Given the description of an element on the screen output the (x, y) to click on. 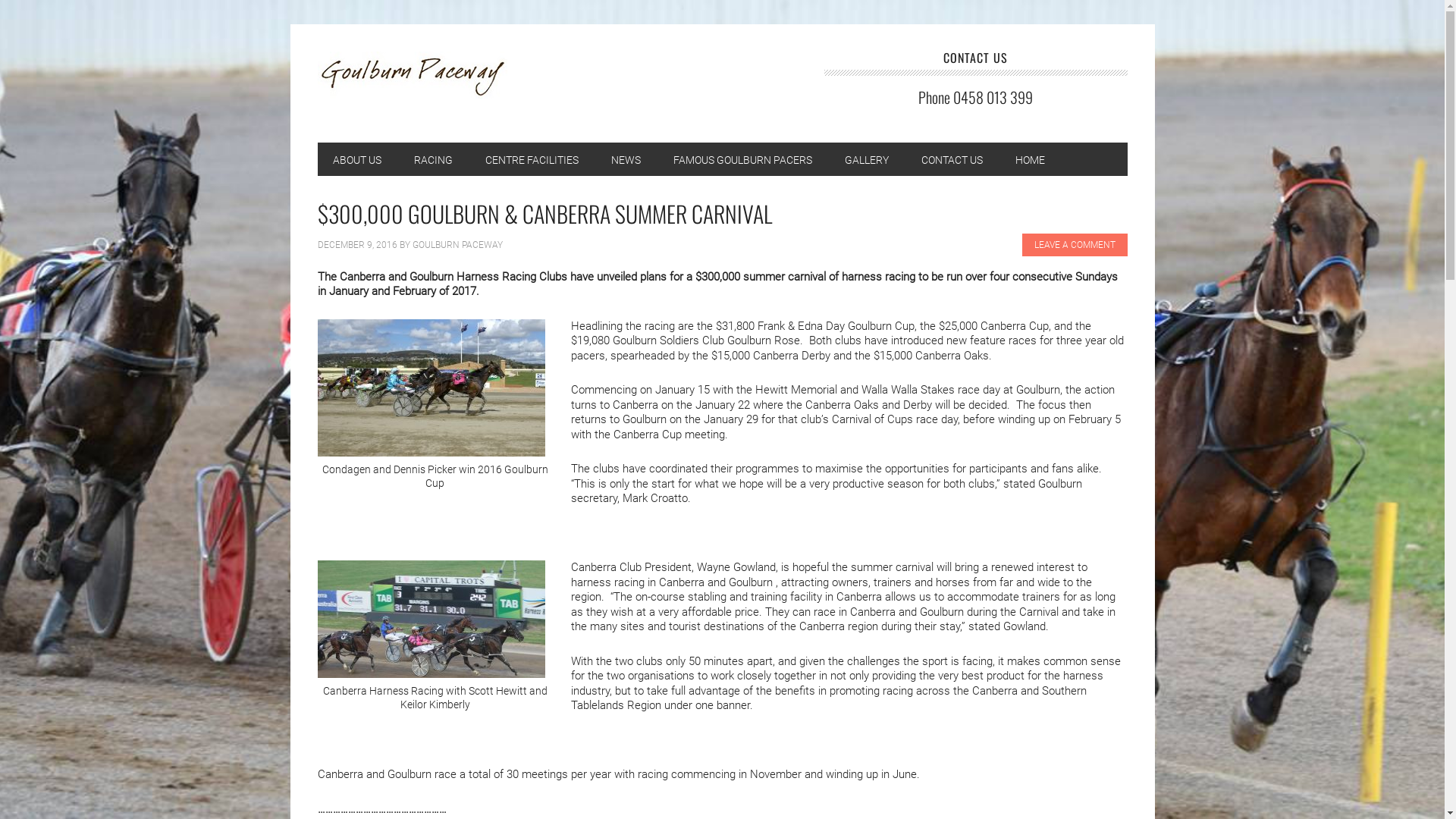
GOULBURN PACEWAY Element type: text (418, 81)
LEAVE A COMMENT Element type: text (1074, 244)
NEWS Element type: text (625, 158)
CONTACT US Element type: text (951, 158)
HOME Element type: text (1029, 158)
ABOUT US Element type: text (355, 158)
GOULBURN PACEWAY Element type: text (457, 244)
CENTRE FACILITIES Element type: text (531, 158)
GALLERY Element type: text (866, 158)
RACING Element type: text (432, 158)
FAMOUS GOULBURN PACERS Element type: text (742, 158)
